Given the description of an element on the screen output the (x, y) to click on. 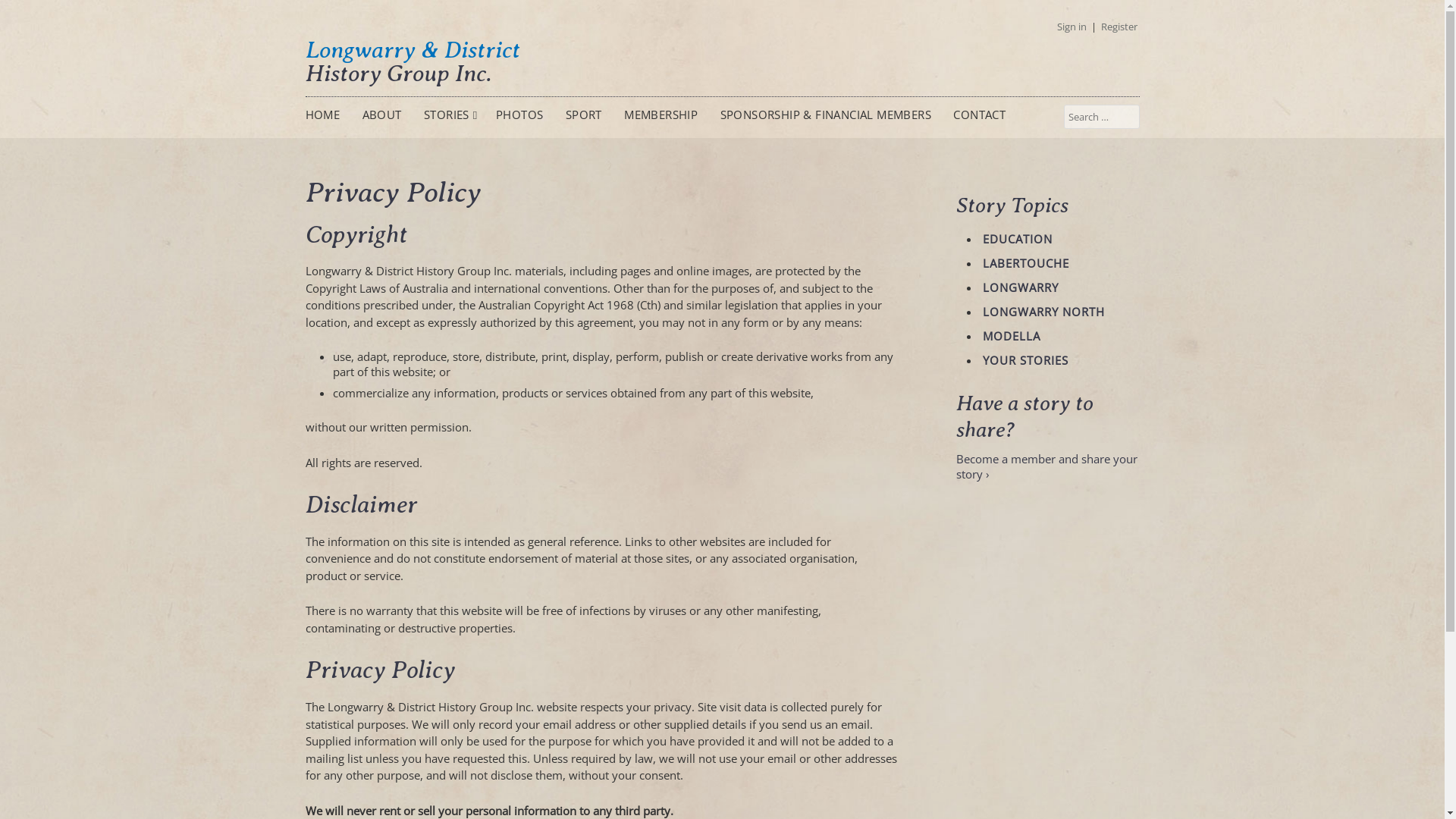
Register Element type: text (1119, 26)
EDUCATION Element type: text (1017, 238)
SPORT Element type: text (585, 115)
CONTACT Element type: text (981, 115)
SKIP TO CONTENT Element type: text (354, 106)
LONGWARRY Element type: text (1020, 286)
Search Element type: text (34, 17)
MEMBERSHIP Element type: text (662, 115)
ABOUT Element type: text (383, 115)
LABERTOUCHE Element type: text (1025, 262)
HOME Element type: text (323, 115)
MODELLA Element type: text (1011, 335)
Sign in Element type: text (1071, 26)
Longwarry & District
History Group Inc. Element type: text (411, 60)
STORIES Element type: text (450, 115)
SPONSORSHIP & FINANCIAL MEMBERS Element type: text (827, 115)
PHOTOS Element type: text (520, 115)
YOUR STORIES Element type: text (1025, 359)
LONGWARRY NORTH Element type: text (1043, 311)
